Given the description of an element on the screen output the (x, y) to click on. 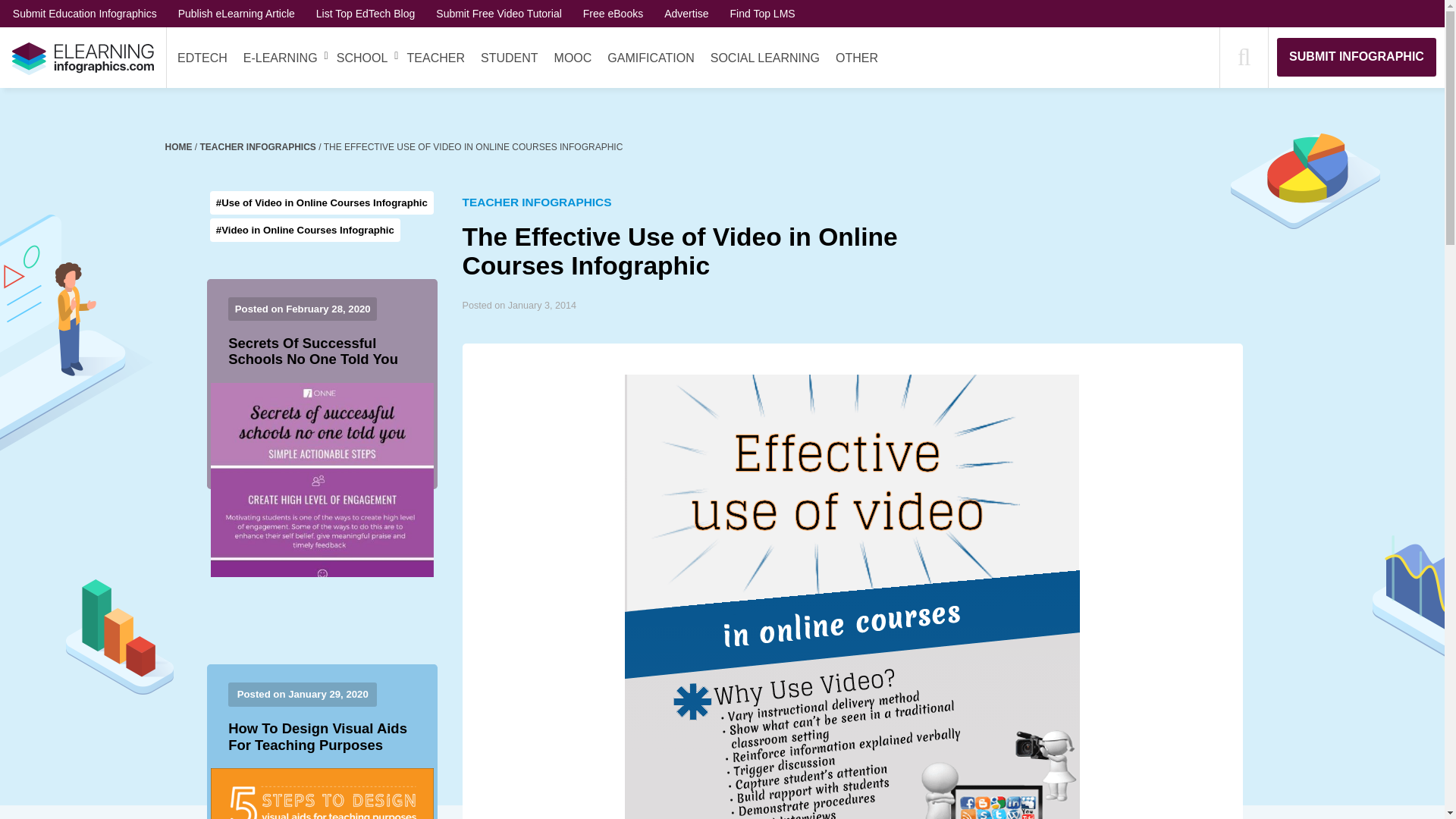
Submit Free Video Tutorial (498, 13)
Gamification Infographics (650, 58)
HOME (180, 146)
Publish eLearning Article (236, 13)
List Top EdTech Blog (364, 13)
Free eBooks (613, 13)
SUBMIT INFOGRAPHIC (1355, 56)
Student Infographics (509, 58)
E-LEARNING (280, 58)
Advertise (685, 13)
